Given the description of an element on the screen output the (x, y) to click on. 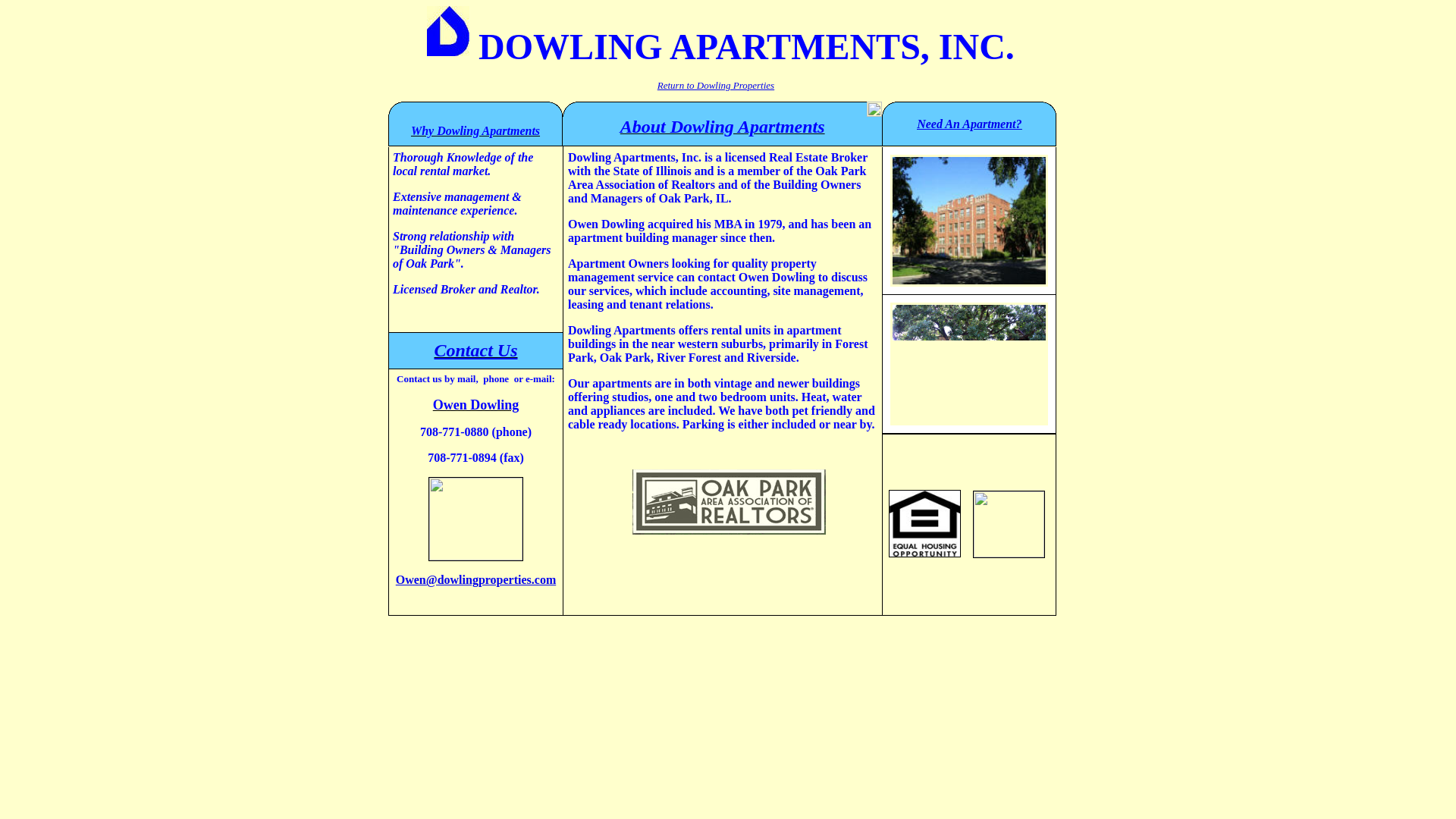
Return to Dowling Properties (716, 84)
Contact Us (474, 350)
Need An Apartment? (969, 123)
